Given the description of an element on the screen output the (x, y) to click on. 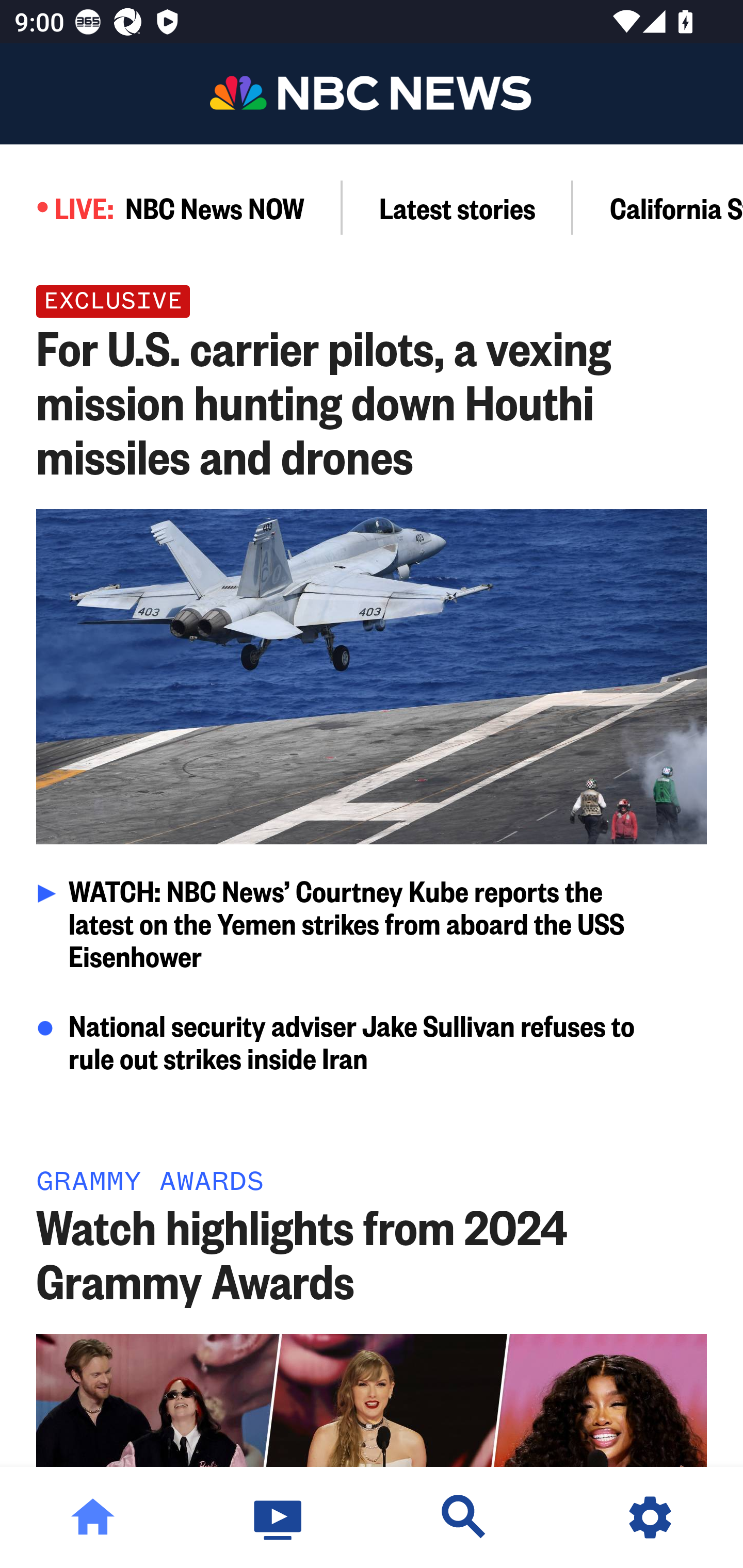
LIVE:  NBC News NOW (171, 207)
Latest stories Section,Latest stories (457, 207)
California Storms (658, 207)
Watch (278, 1517)
Discover (464, 1517)
Settings (650, 1517)
